Given the description of an element on the screen output the (x, y) to click on. 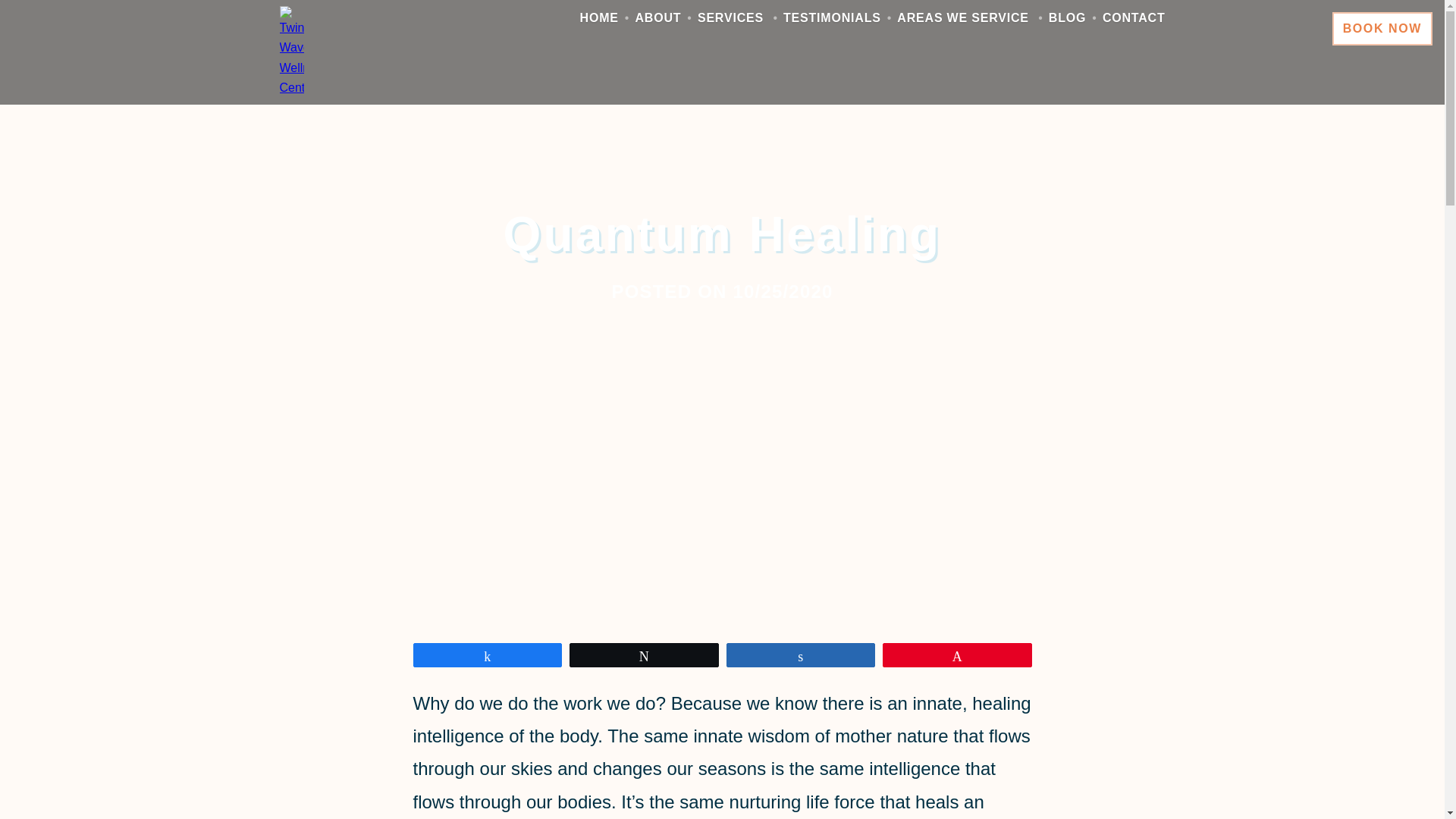
ABOUT (657, 18)
BLOG (1067, 18)
AREAS WE SERVICE (961, 18)
SERVICES (729, 18)
HOME (598, 18)
CONTACT (1134, 18)
TESTIMONIALS (831, 18)
